Given the description of an element on the screen output the (x, y) to click on. 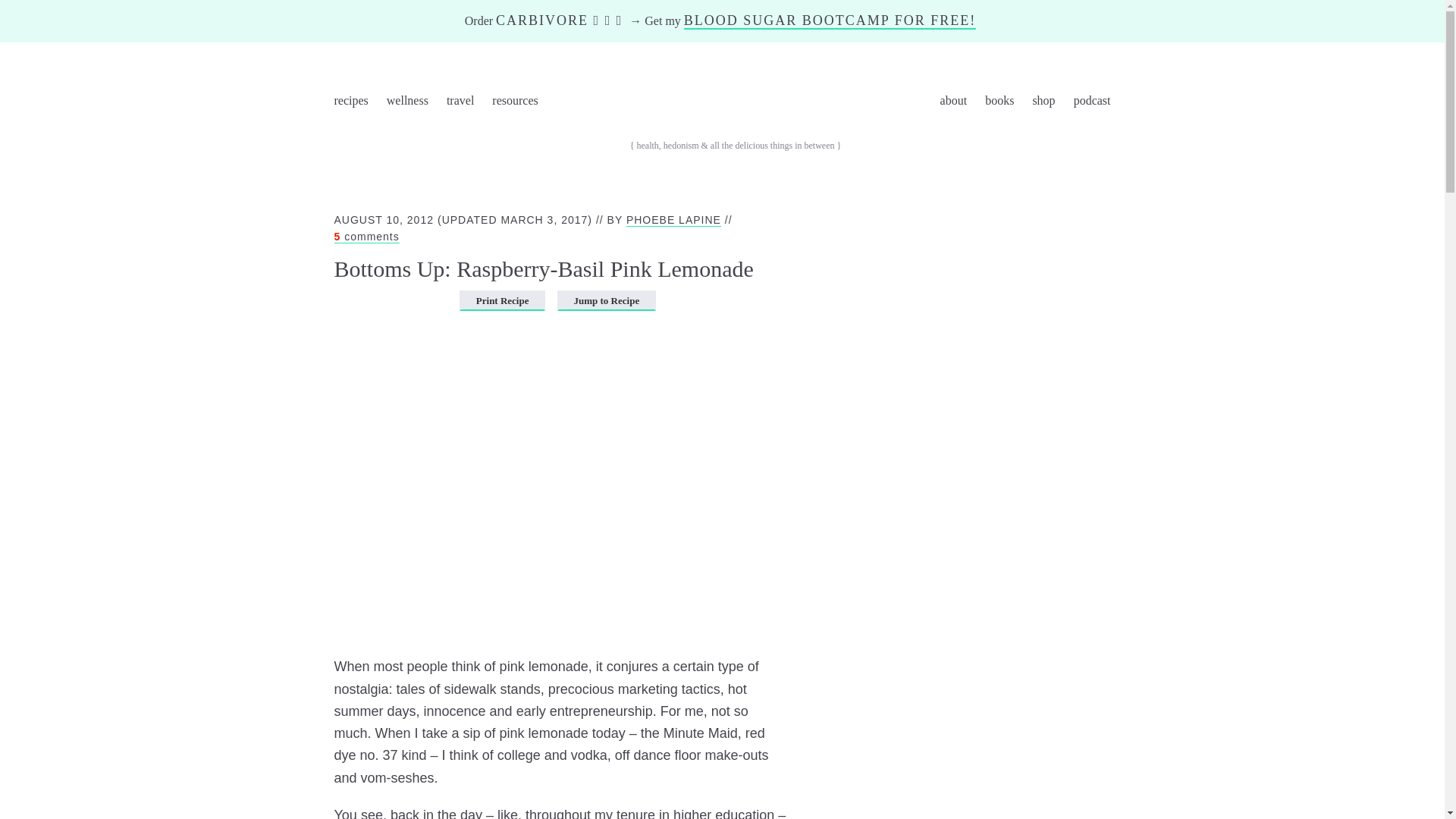
resources (514, 103)
about (953, 103)
wellness (407, 103)
podcast (1100, 103)
recipes (342, 103)
Jump to Recipe (606, 300)
PHOEBE LAPINE (673, 219)
Feed Me Phoebe (738, 101)
books (999, 103)
Print Recipe (503, 300)
